Given the description of an element on the screen output the (x, y) to click on. 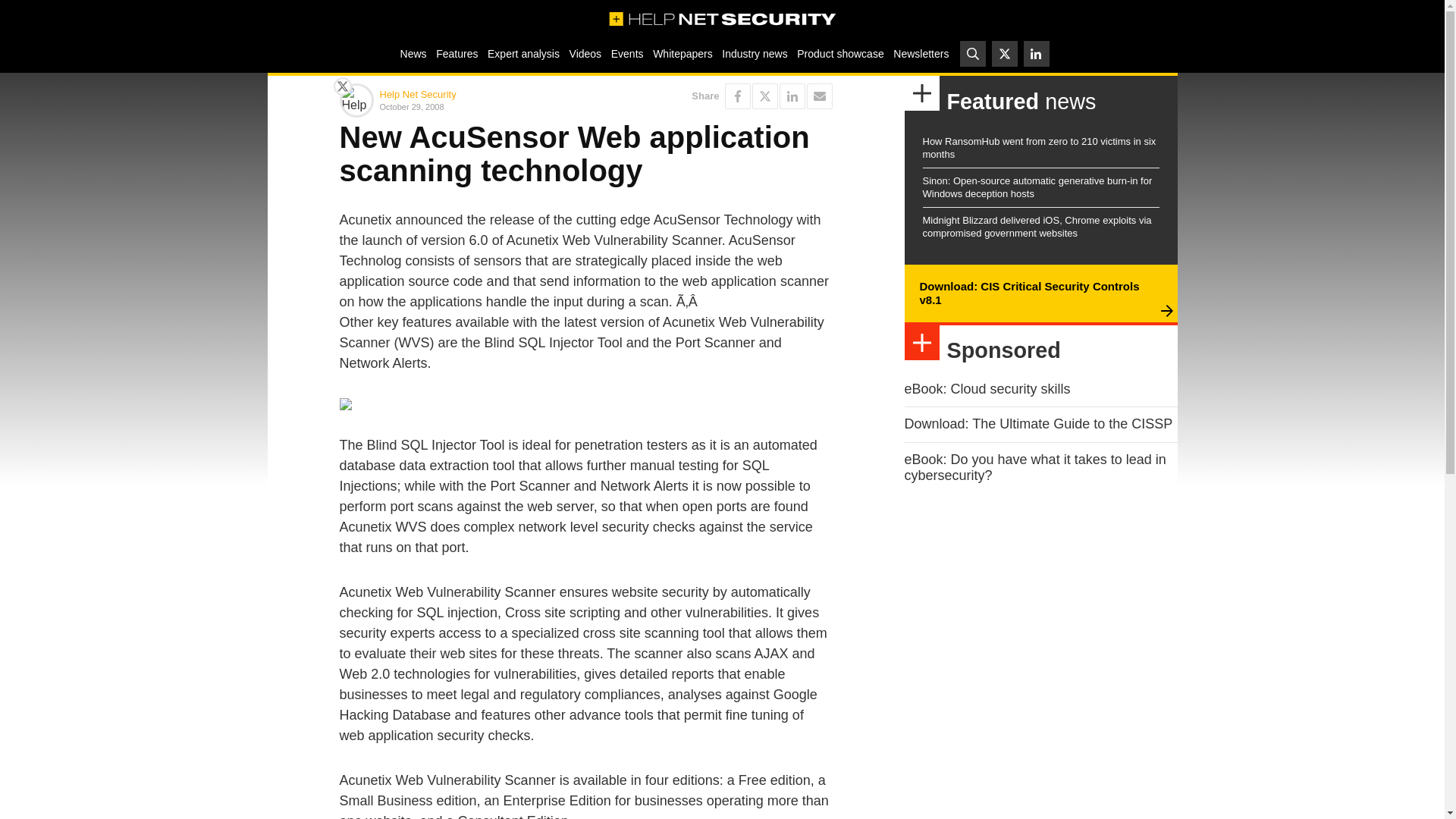
October 29, 2008 (478, 106)
Newsletters (920, 53)
How RansomHub went from zero to 210 victims in six months (1038, 147)
eBook: Cloud security skills (987, 388)
Download: The Ultimate Guide to the CISSP (1038, 423)
Videos (584, 53)
eBook: Cloud security skills (987, 388)
